Given the description of an element on the screen output the (x, y) to click on. 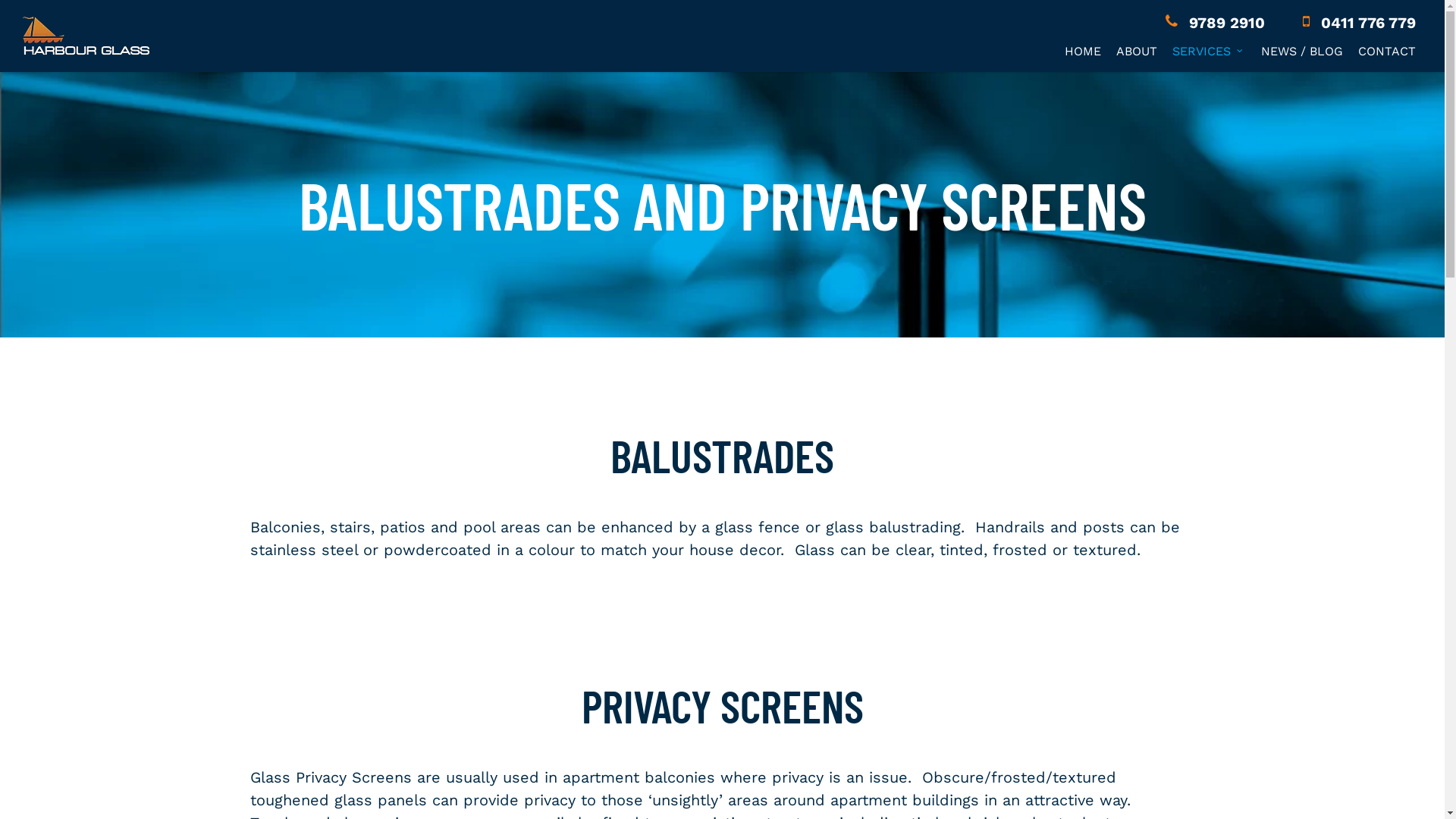
NEWS / BLOG Element type: text (1301, 50)
0411 776 779 Element type: text (1358, 21)
SERVICES Element type: text (1208, 50)
9789 2910 Element type: text (1214, 21)
ABOUT Element type: text (1136, 50)
CONTACT Element type: text (1386, 50)
HOME Element type: text (1082, 50)
